Given the description of an element on the screen output the (x, y) to click on. 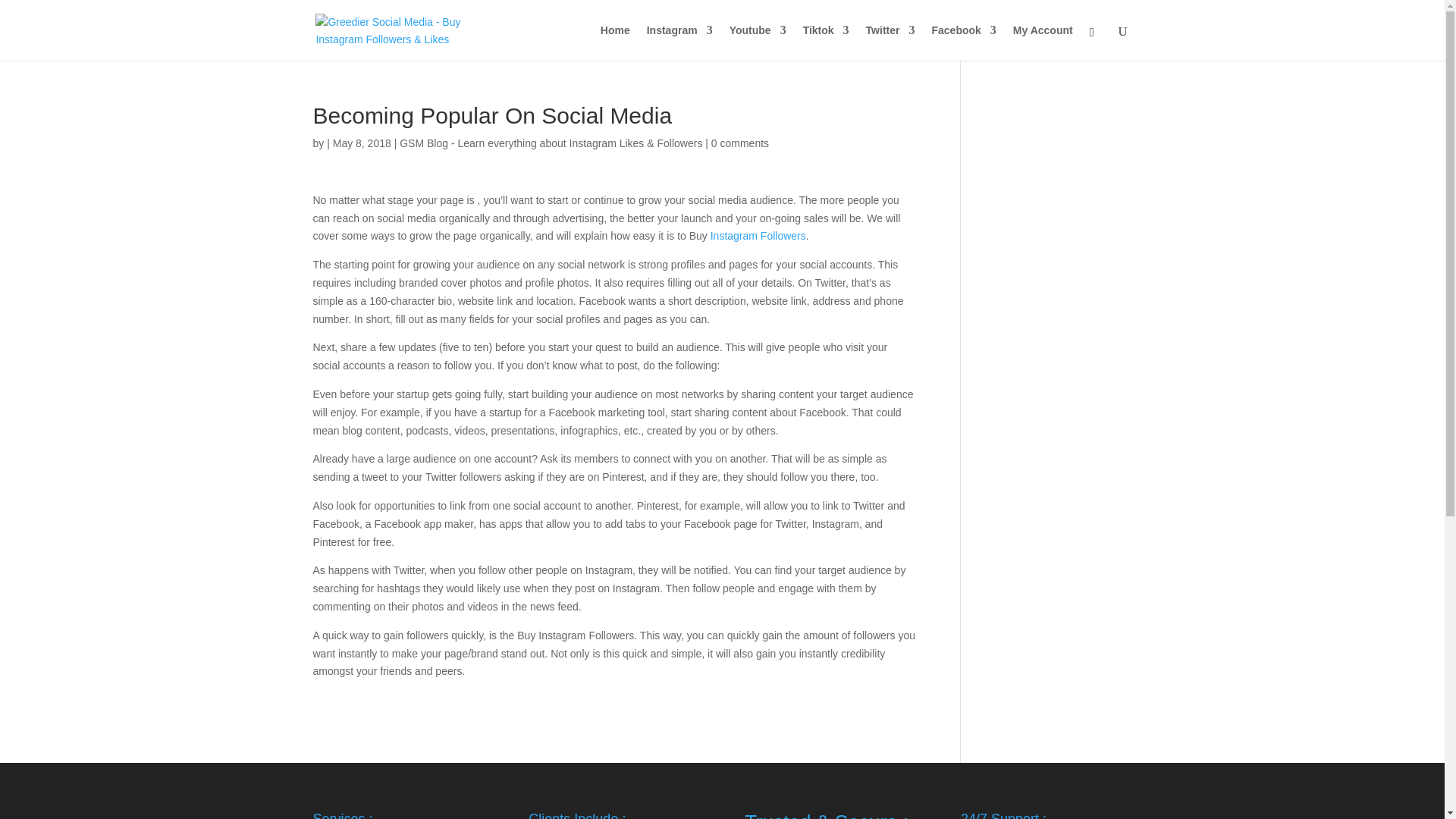
Twitter (890, 42)
0 comments (739, 143)
Tiktok (825, 42)
My Account (1043, 42)
Instagram (679, 42)
Youtube (757, 42)
Facebook (963, 42)
Instagram Followers (758, 235)
